Given the description of an element on the screen output the (x, y) to click on. 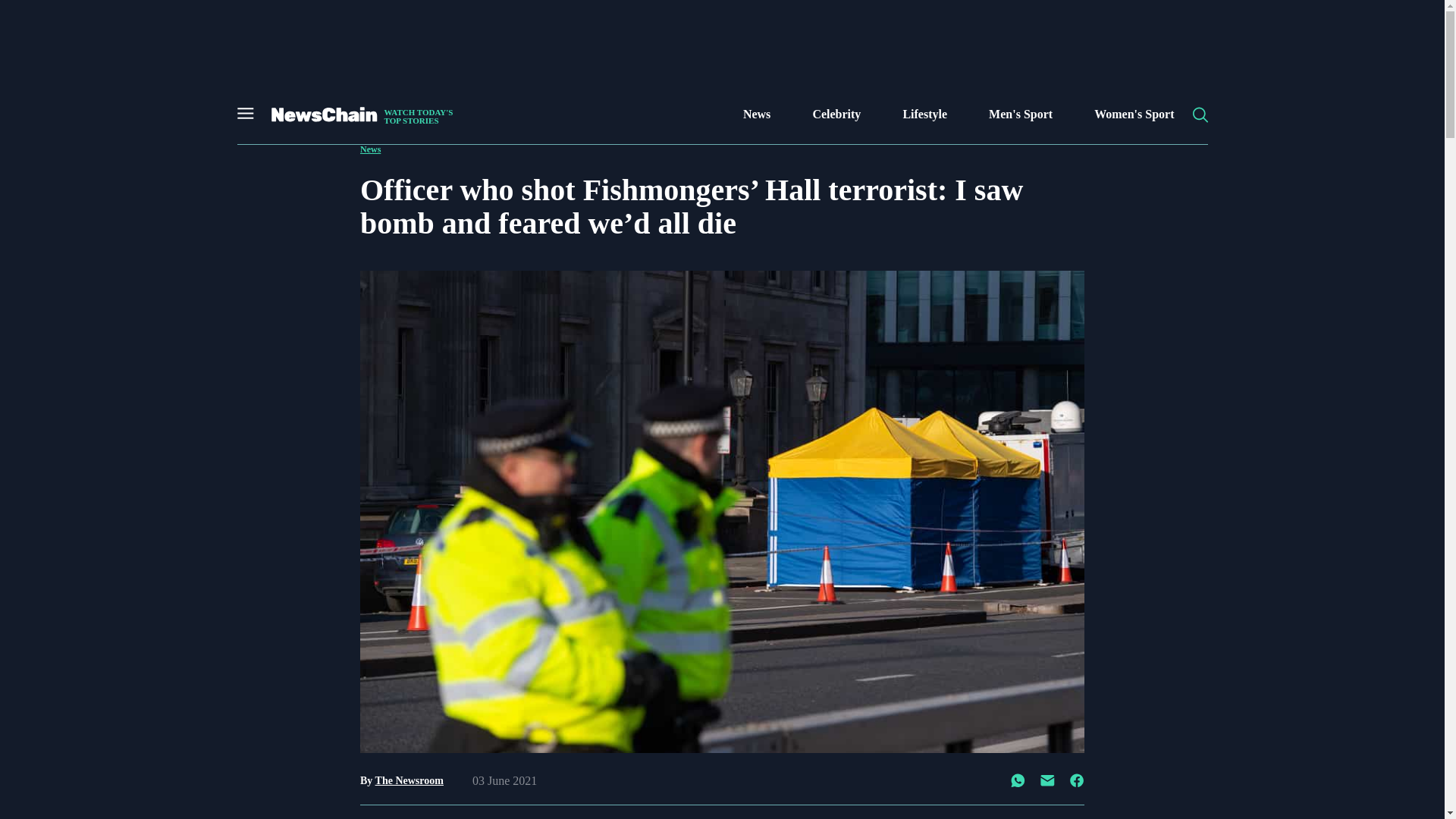
News (756, 114)
Lifestyle (359, 114)
Women's Sport (924, 114)
Celebrity (1133, 114)
News (836, 114)
The Newsroom (369, 149)
Men's Sport (409, 780)
